Given the description of an element on the screen output the (x, y) to click on. 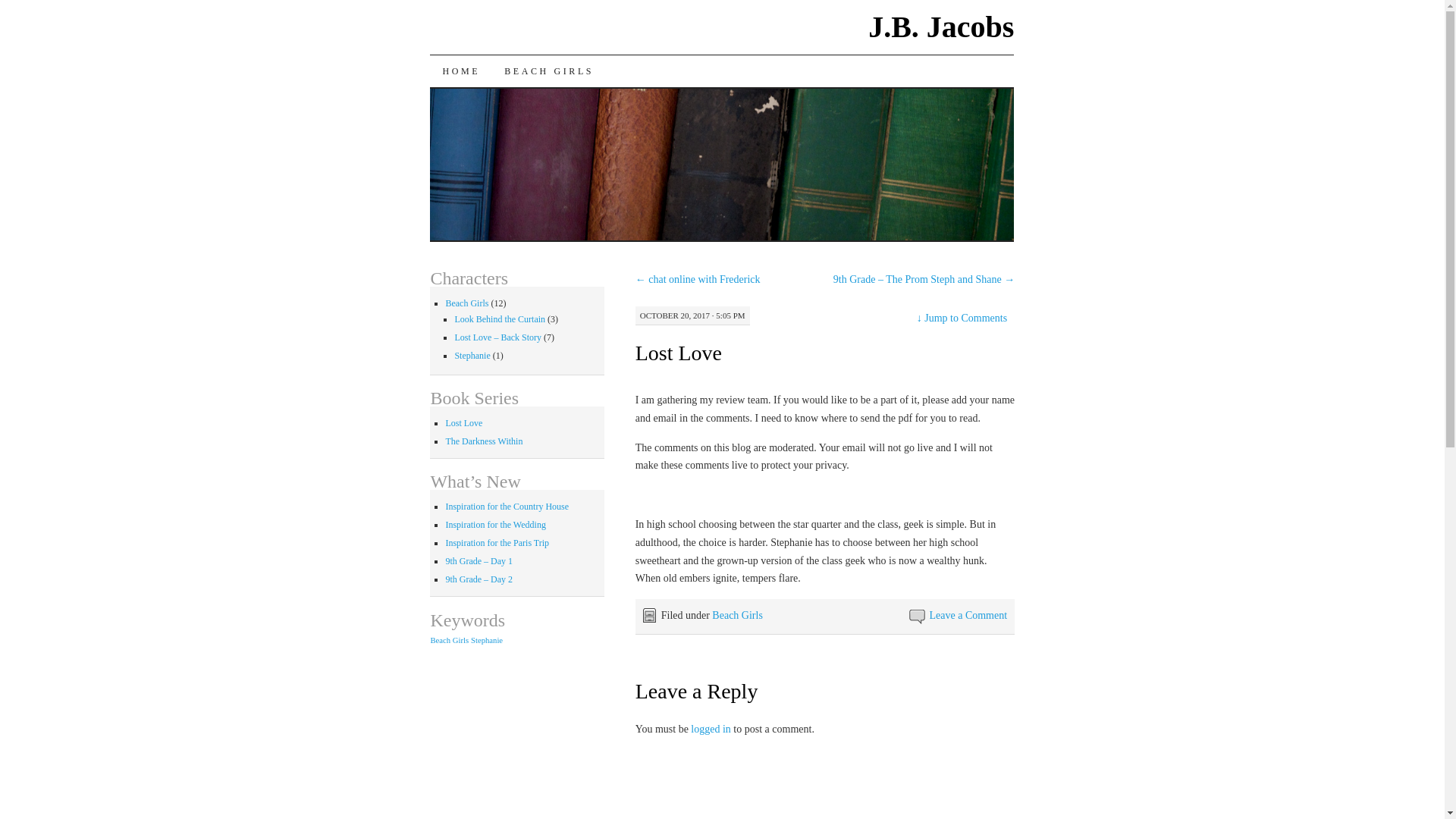
Leave a Comment (967, 614)
Beach Girls (466, 303)
Lost Love (678, 352)
J.B. Jacobs (940, 26)
logged in (710, 728)
Beach Girls (736, 614)
Lost Love (463, 422)
Inspiration for the Paris Trip (496, 542)
J.B. Jacobs (940, 26)
HOME (460, 70)
